Given the description of an element on the screen output the (x, y) to click on. 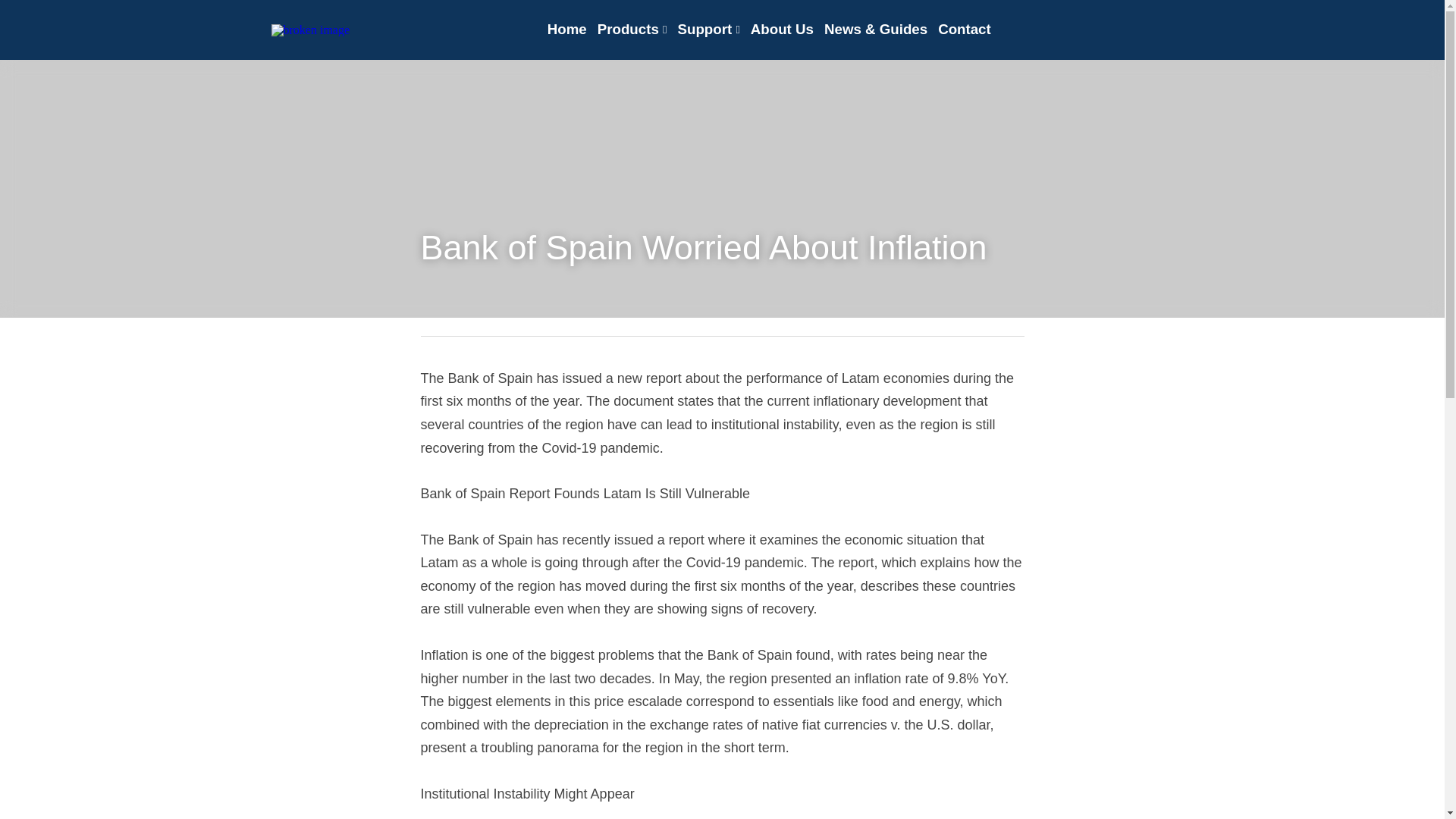
Home (566, 28)
Contact (964, 28)
About Us (782, 28)
